Given the description of an element on the screen output the (x, y) to click on. 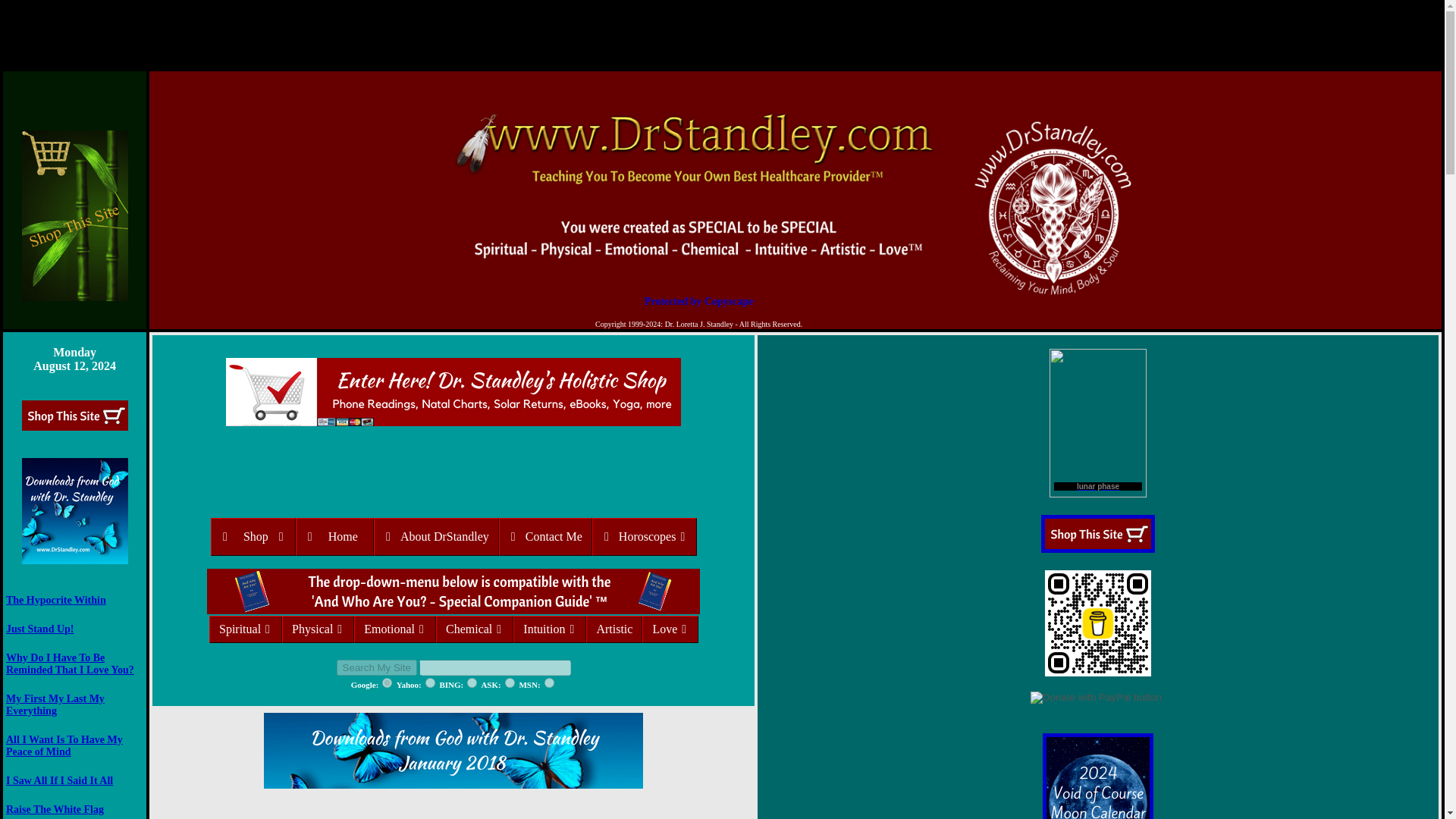
The Hypocrite Within (55, 600)
This will take you back to the home page (698, 183)
I Saw All If I Said It All (59, 780)
on (472, 682)
My First My Last My Everything (54, 704)
on (549, 682)
on (430, 682)
Search My Site (376, 667)
Protected by Copyscape - Do not copy content from this page (698, 301)
